Given the description of an element on the screen output the (x, y) to click on. 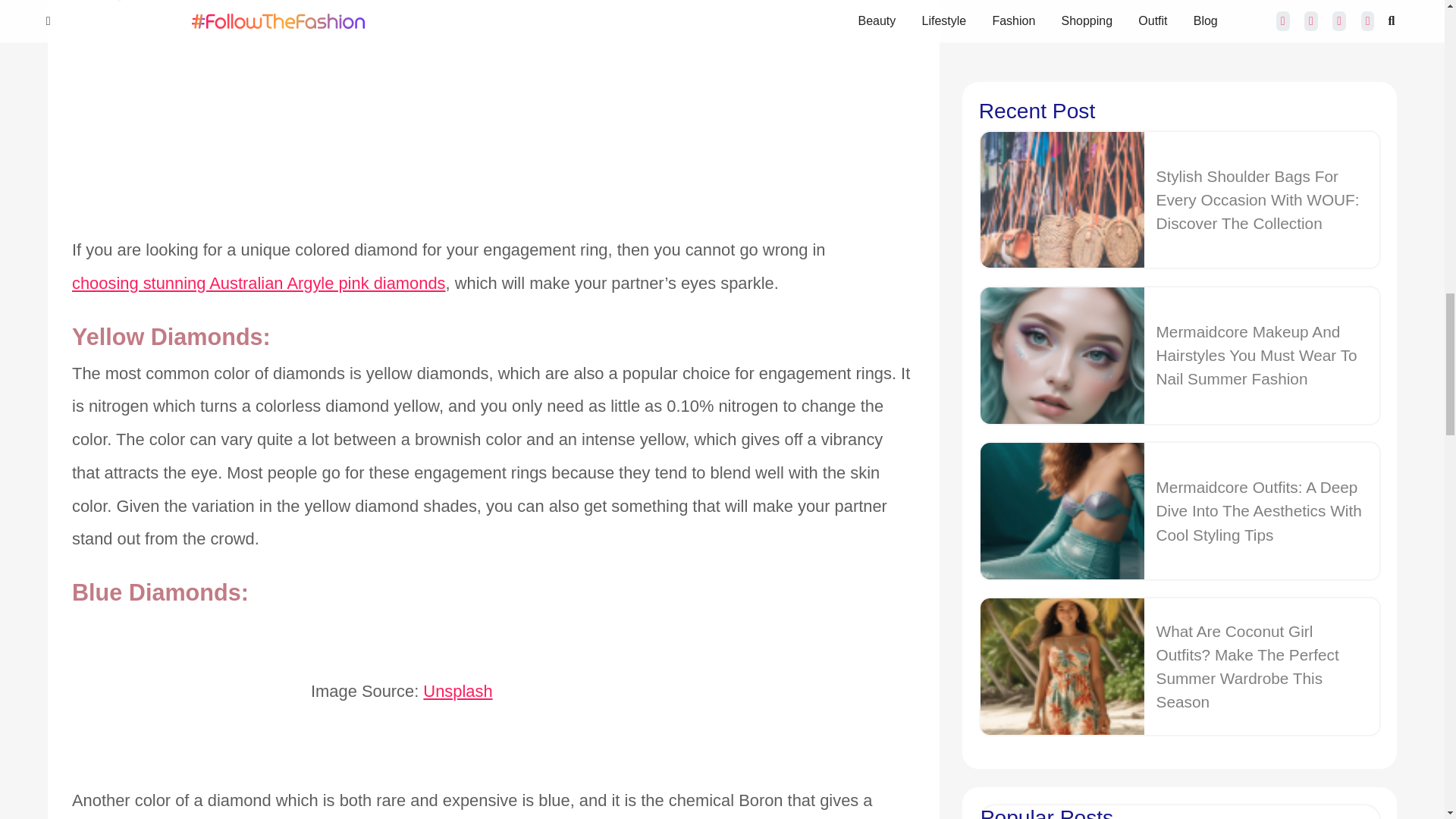
choosing stunning Australian Argyle pink diamonds (258, 283)
Unsplash (457, 691)
